Given the description of an element on the screen output the (x, y) to click on. 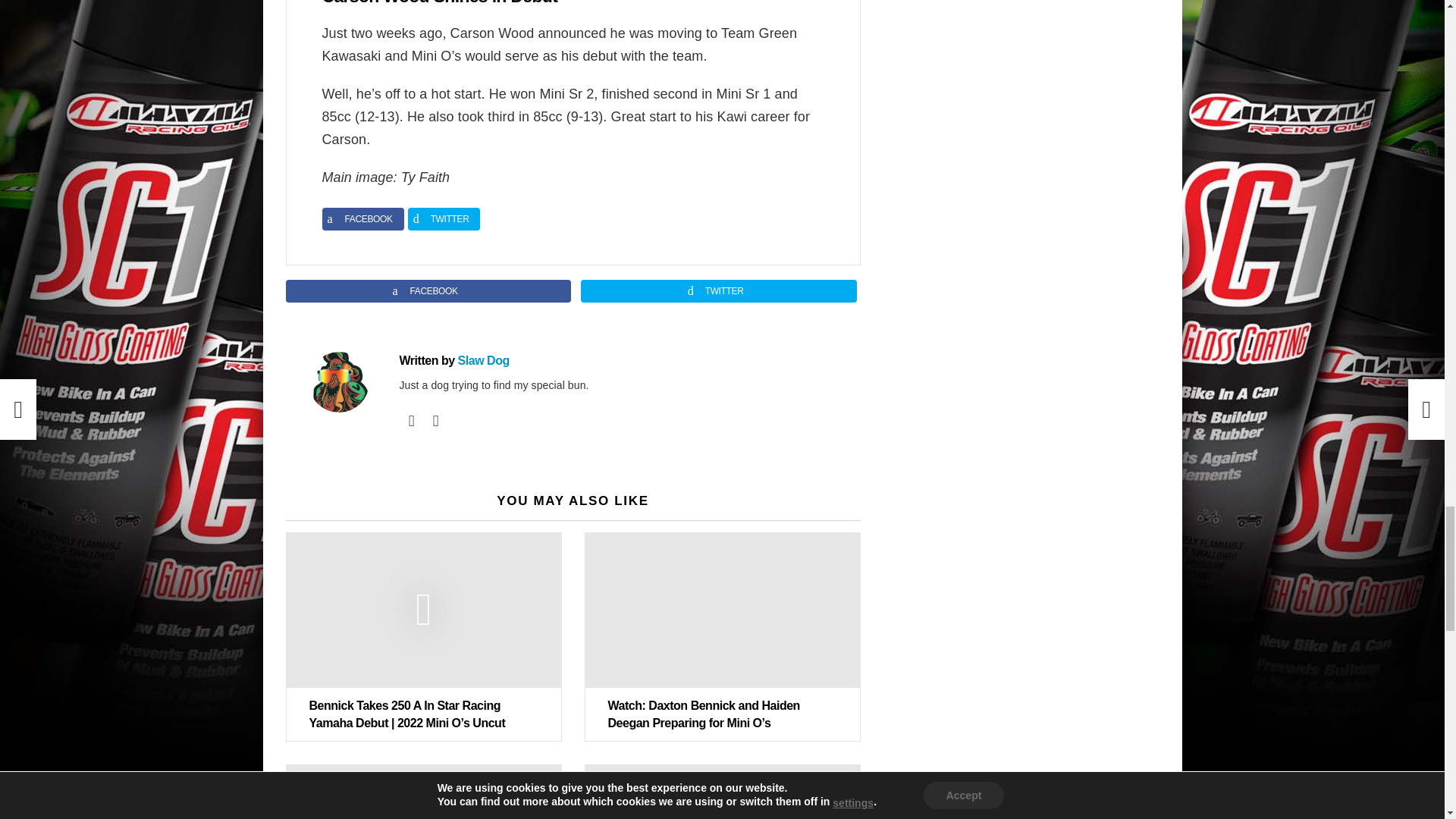
Share on Facebook (362, 219)
Share on Twitter (718, 291)
Share on Facebook (427, 291)
Share on Twitter (443, 219)
